Given the description of an element on the screen output the (x, y) to click on. 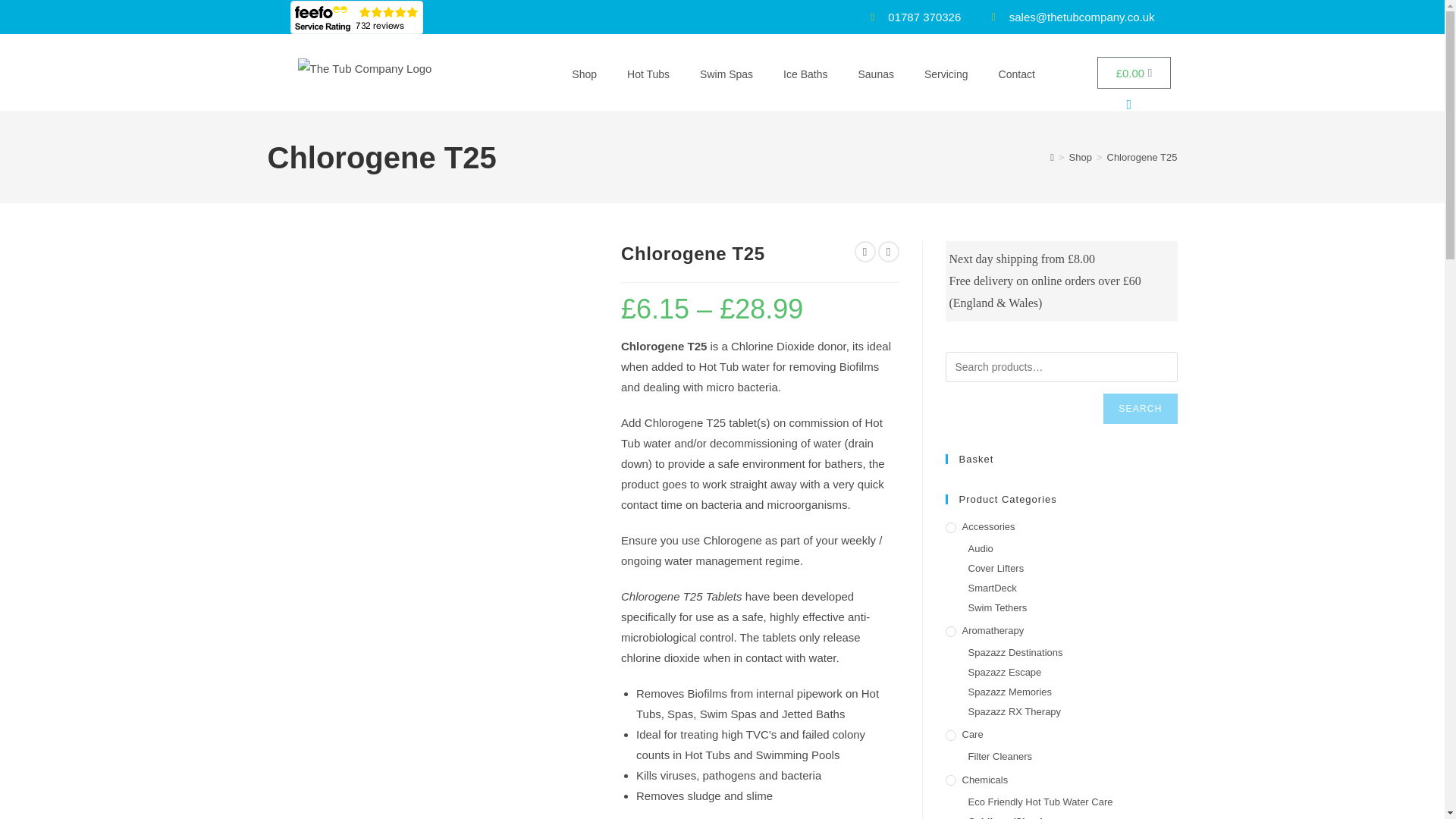
Swim Spas (726, 73)
Hot Tubs (647, 73)
Contact (1016, 73)
Saunas (875, 73)
See what our customers say about us (355, 16)
Servicing (946, 73)
01787 370326 (910, 16)
The Tub Company Logo (363, 68)
Ice Baths (805, 73)
Shop (583, 73)
